Given the description of an element on the screen output the (x, y) to click on. 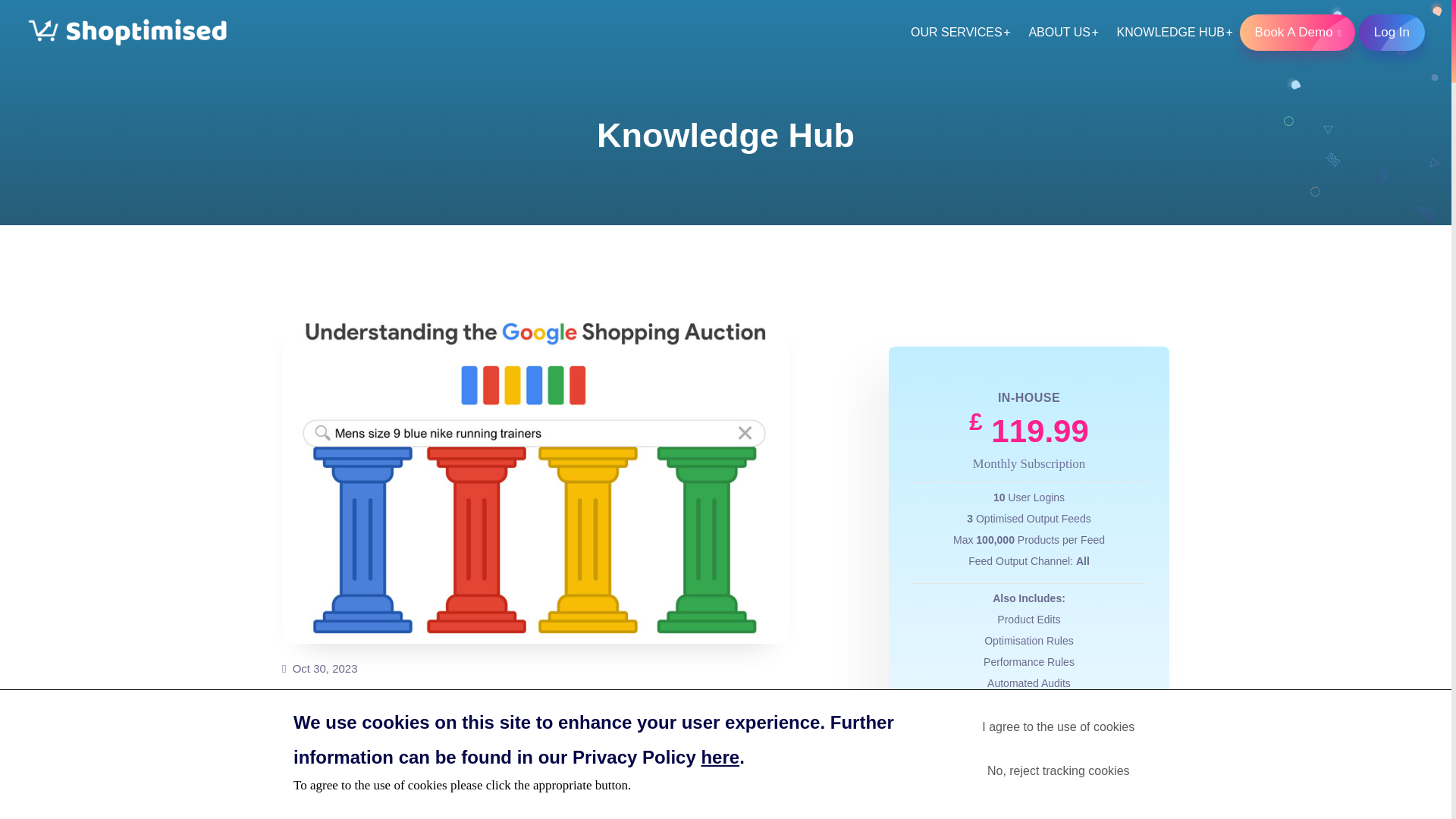
Book A Demo (1297, 32)
Log In (1391, 32)
More Subscriptions (1028, 811)
Sign Up (1029, 761)
ABOUT US (1059, 32)
KNOWLEDGE HUB (1170, 32)
OUR SERVICES (956, 32)
